Given the description of an element on the screen output the (x, y) to click on. 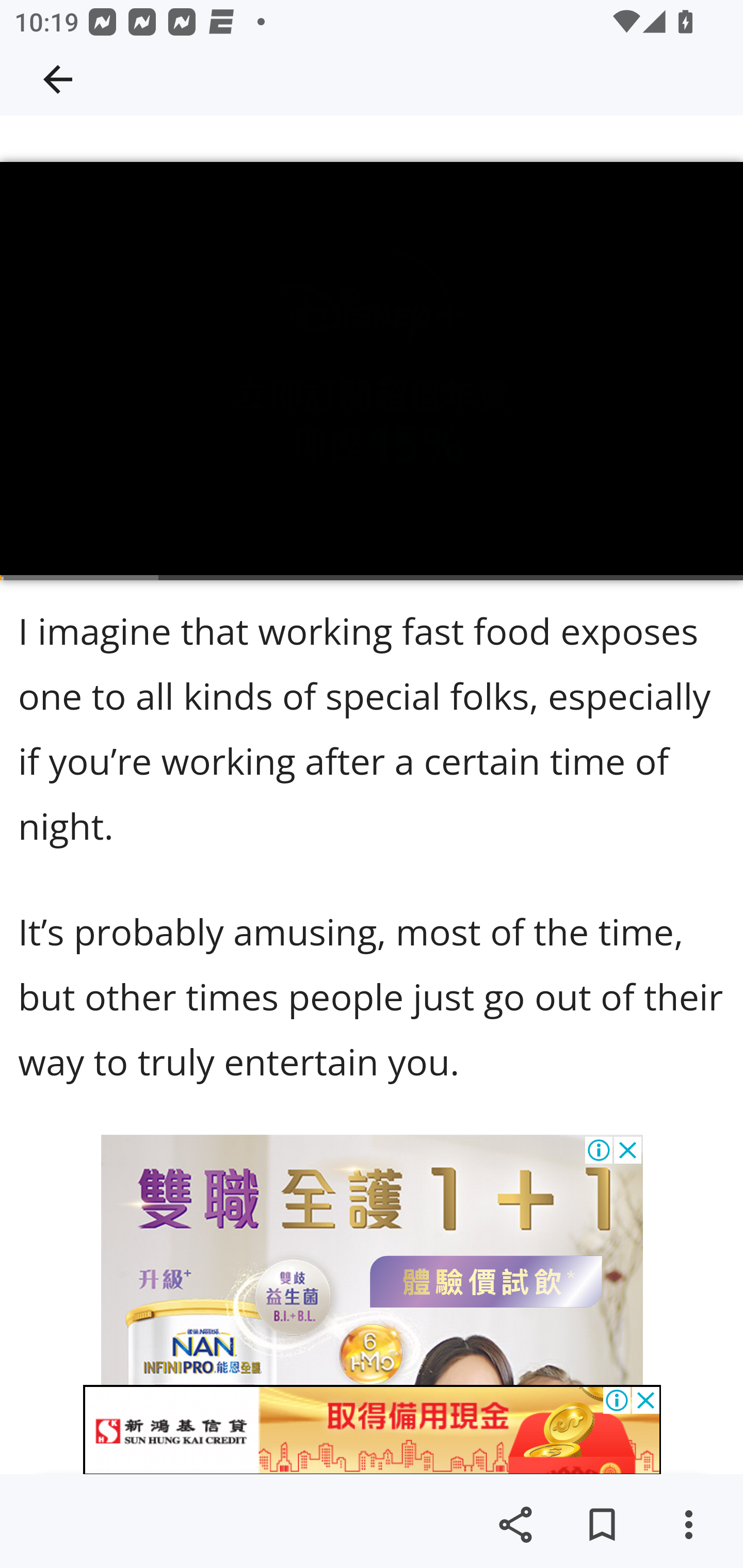
Navigate up (57, 79)
Share (514, 1524)
Save for later (601, 1524)
More options (688, 1524)
